Given the description of an element on the screen output the (x, y) to click on. 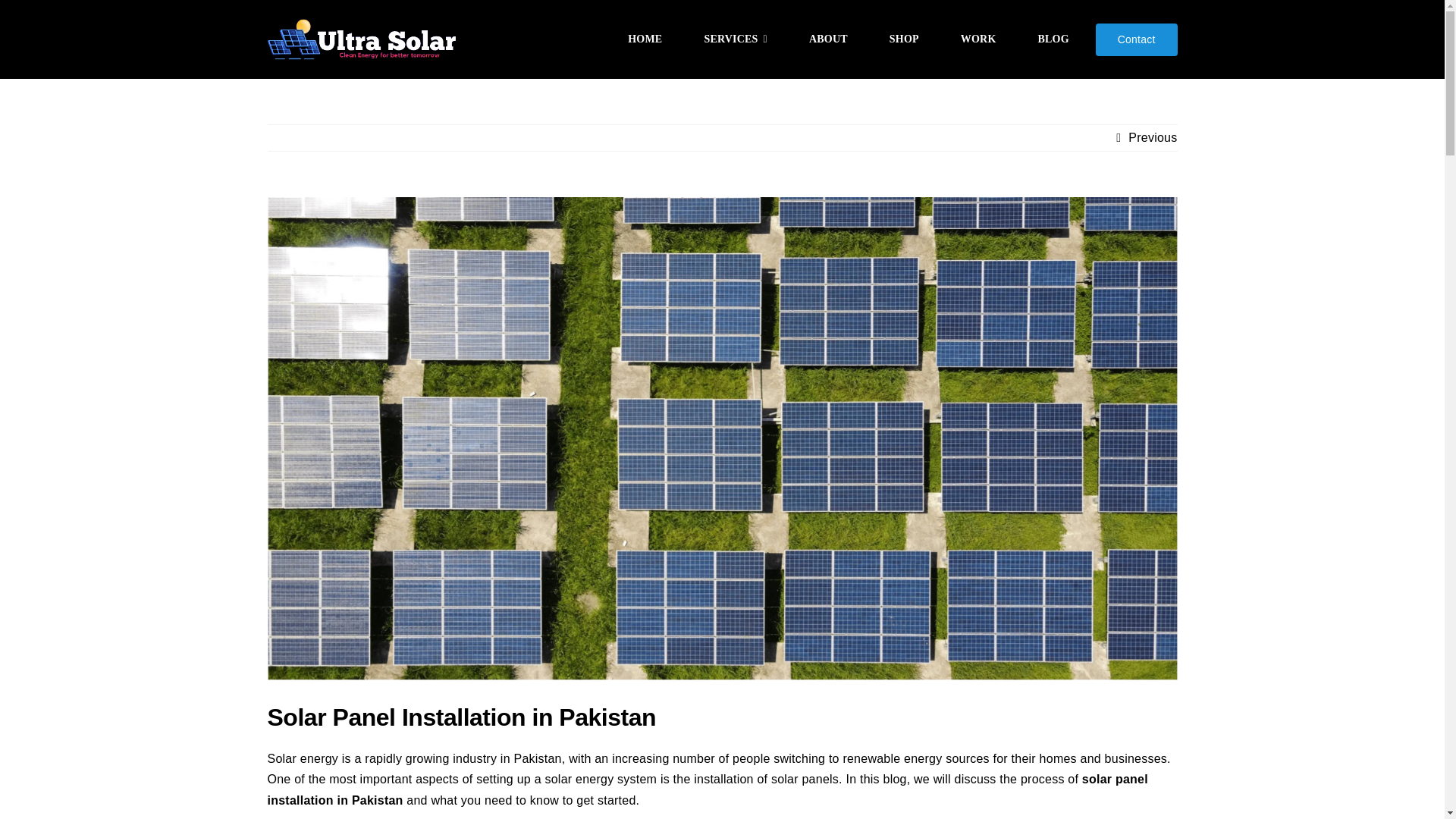
Contact (1136, 39)
SERVICES (735, 39)
Previous (1152, 137)
solar panel installation in Pakistan (706, 789)
